Given the description of an element on the screen output the (x, y) to click on. 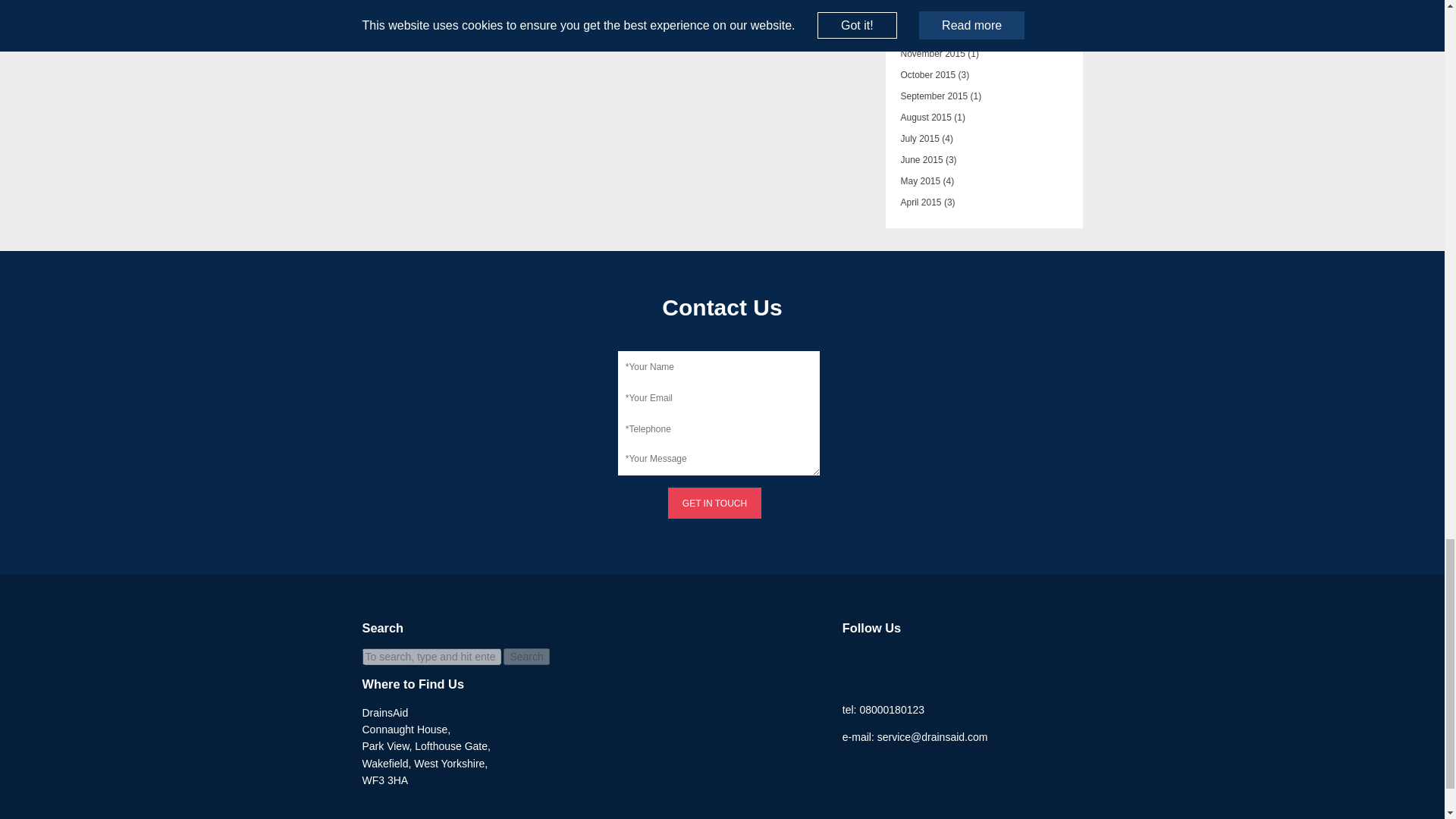
GET IN TOUCH (714, 502)
